Given the description of an element on the screen output the (x, y) to click on. 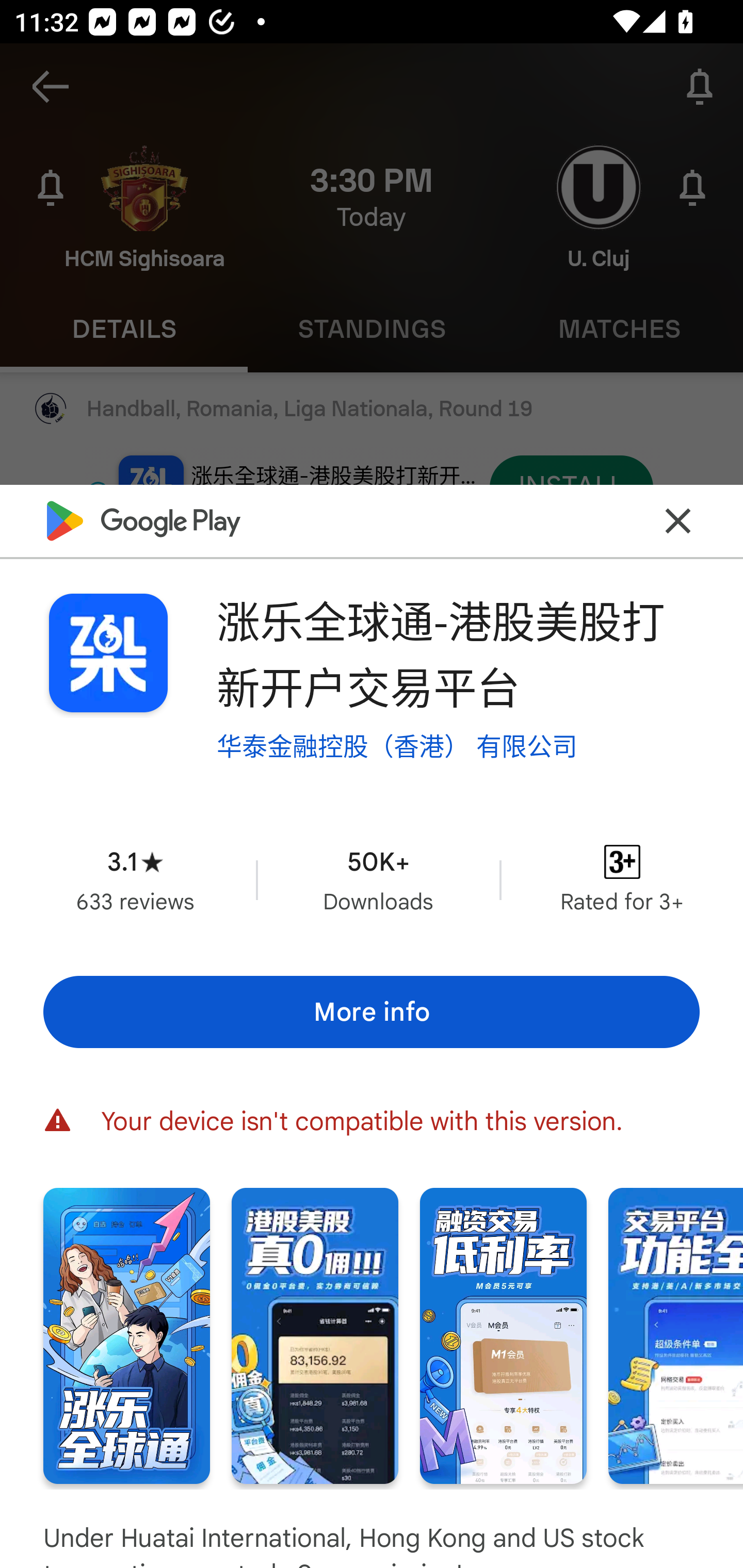
Close (677, 520)
Image of app or game icon for 涨乐全球通-港股美股打新开户交易平台 (108, 653)
华泰金融控股（香港） 有限公司 (396, 745)
More info (371, 1011)
Screenshot "1" of "6" (126, 1335)
Screenshot "2" of "6" (314, 1335)
Screenshot "3" of "6" (502, 1335)
Screenshot "4" of "6" (675, 1335)
